Given the description of an element on the screen output the (x, y) to click on. 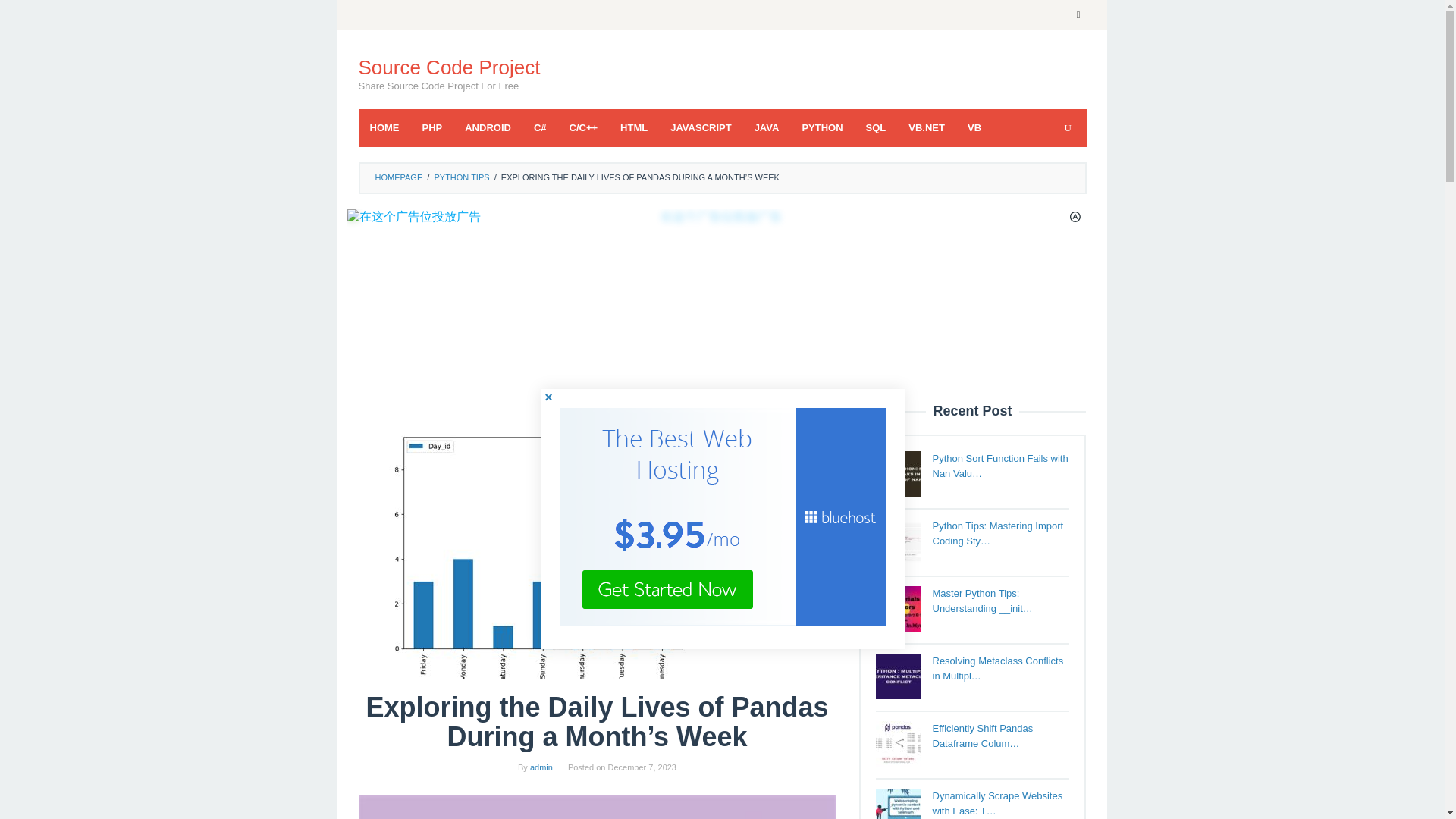
HOMEPAGE (398, 176)
Permalink to: Python Sort Function Fails with Nan Values. (1000, 465)
Source Code Project (449, 67)
HOME (384, 127)
Python Sort Function Fails with Nan Values. (897, 473)
Permalink to: admin (541, 767)
ANDROID (487, 127)
JAVA (766, 127)
PYTHON TIPS (461, 176)
Source Code Project (449, 67)
